Given the description of an element on the screen output the (x, y) to click on. 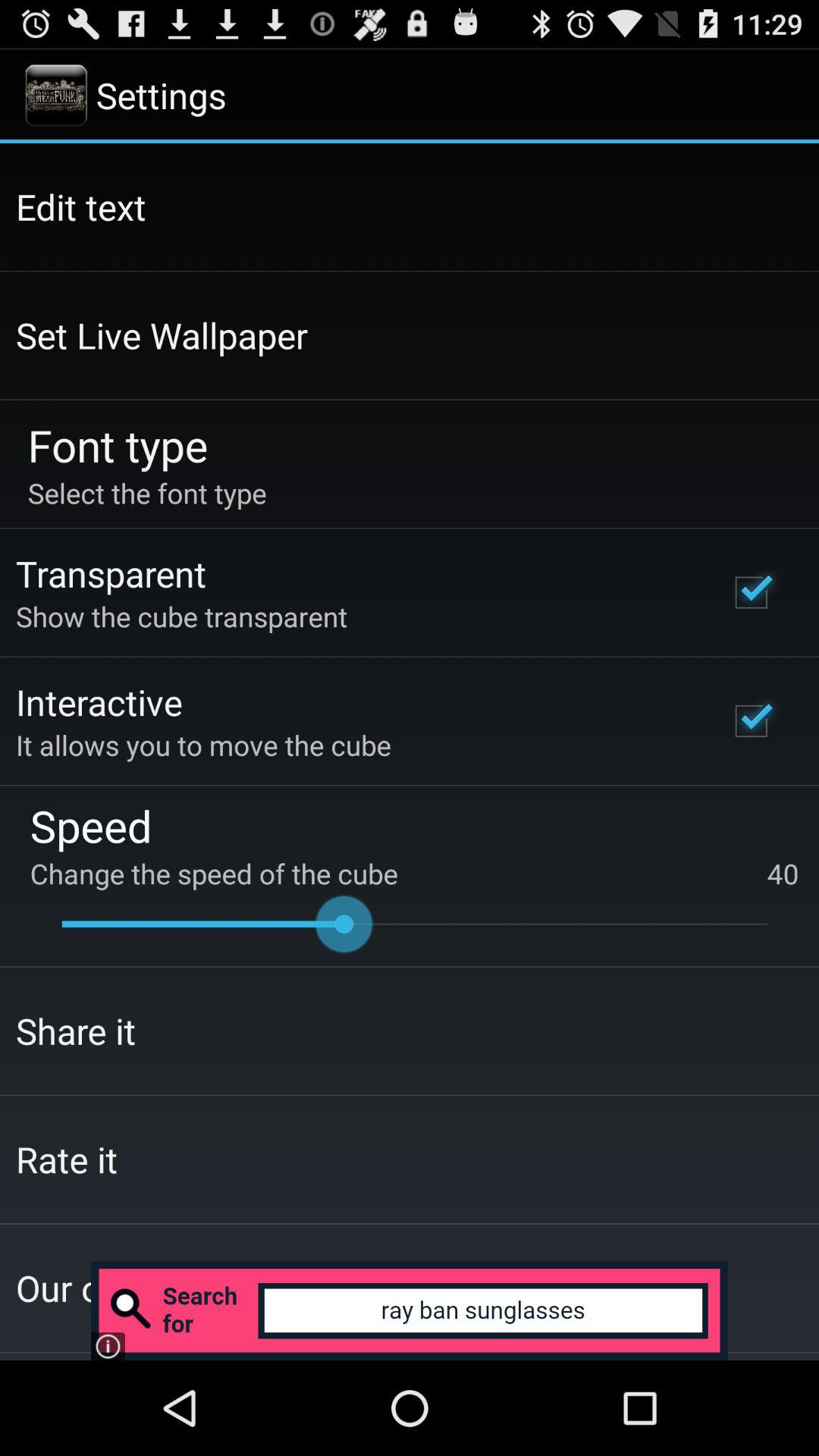
turn off set live wallpaper icon (161, 335)
